Given the description of an element on the screen output the (x, y) to click on. 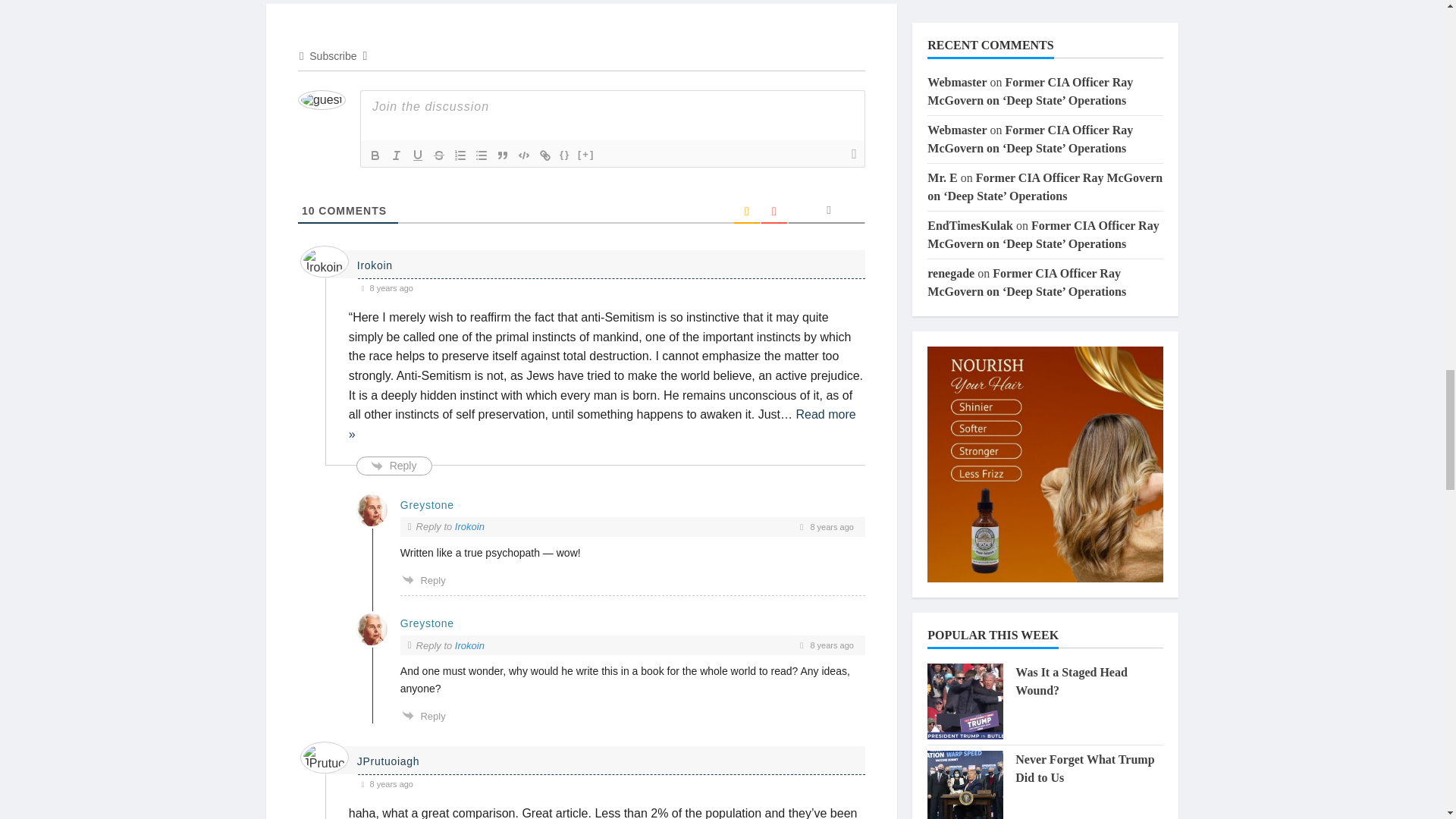
Strike (438, 155)
Unordered List (481, 155)
Underline (417, 155)
Ordered List (459, 155)
Italic (396, 155)
Bold (375, 155)
